Given the description of an element on the screen output the (x, y) to click on. 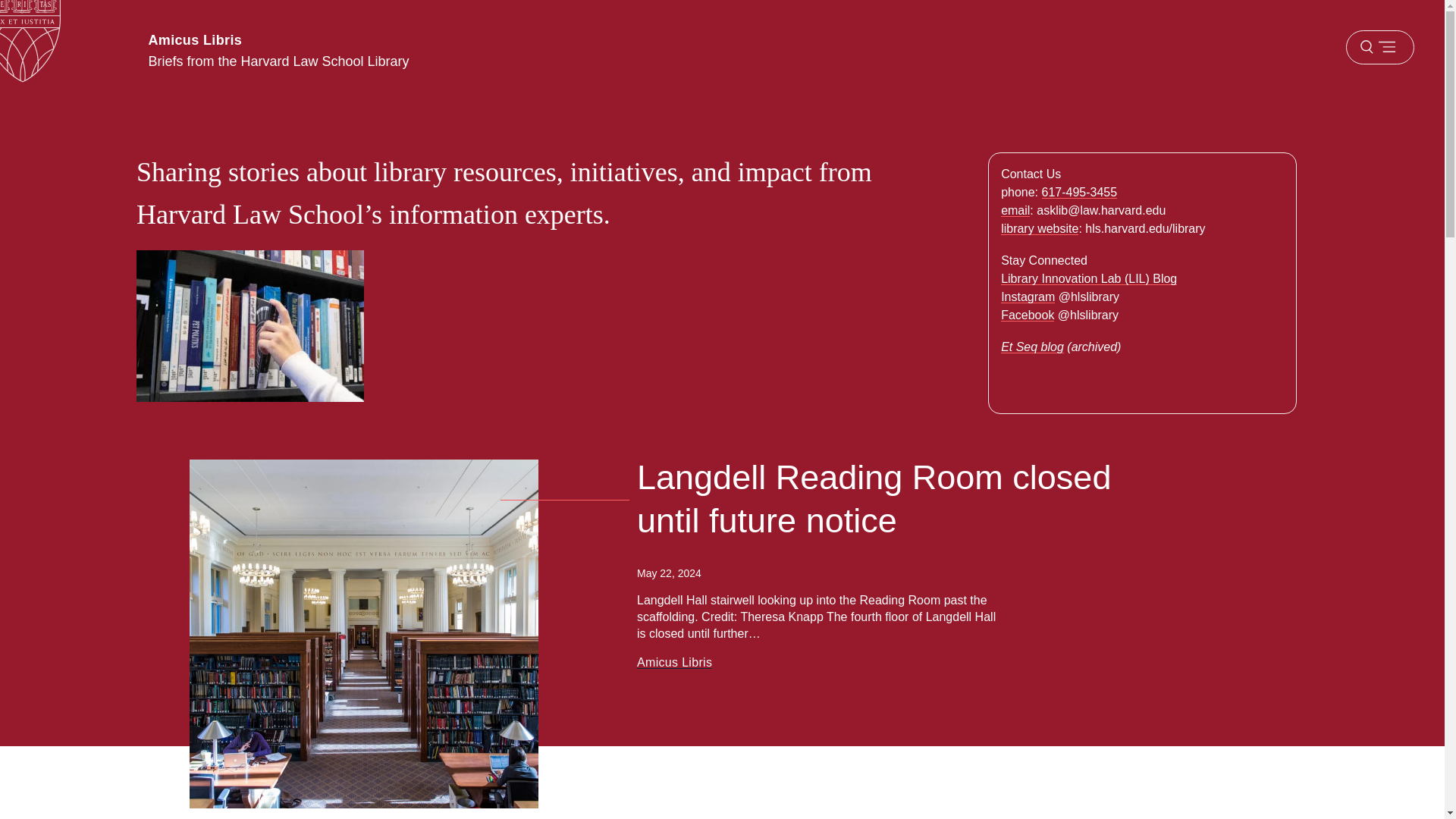
Open menu (1379, 47)
